Given the description of an element on the screen output the (x, y) to click on. 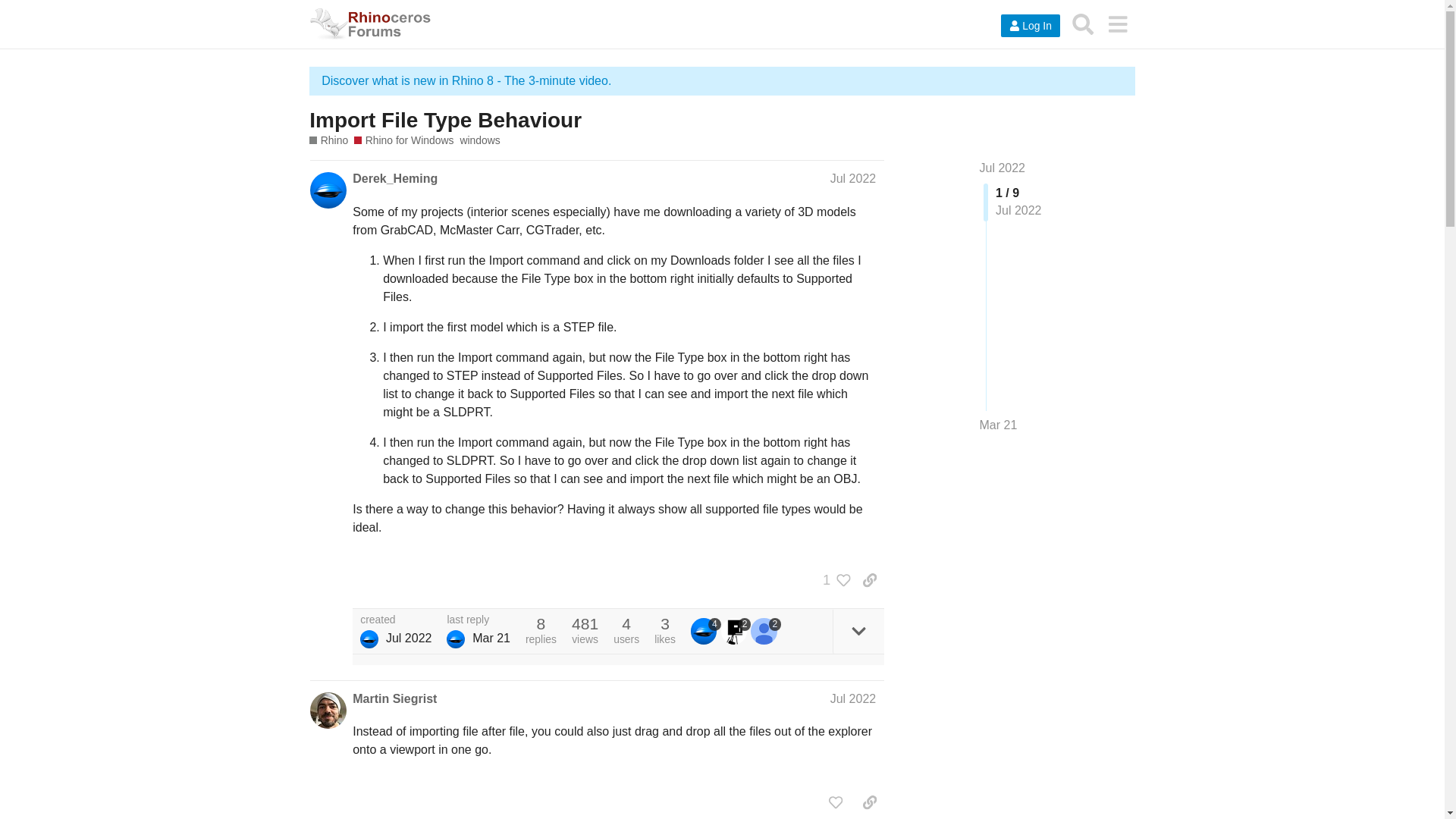
Search (1082, 23)
last reply (478, 620)
Jump to the first post (1002, 167)
Rhino (327, 140)
4 (705, 630)
1 (832, 579)
windows (479, 140)
Jul 2022 (1002, 167)
Discover what is new in Rhino 8 - The 3-minute video. (466, 80)
Jump to the last post (998, 424)
Log In (1030, 25)
expand topic details (857, 631)
Rhino for Windows (402, 140)
Jul 23, 2022 8:35 am (408, 637)
Ask questions related to Rhino in this category. (327, 140)
